Given the description of an element on the screen output the (x, y) to click on. 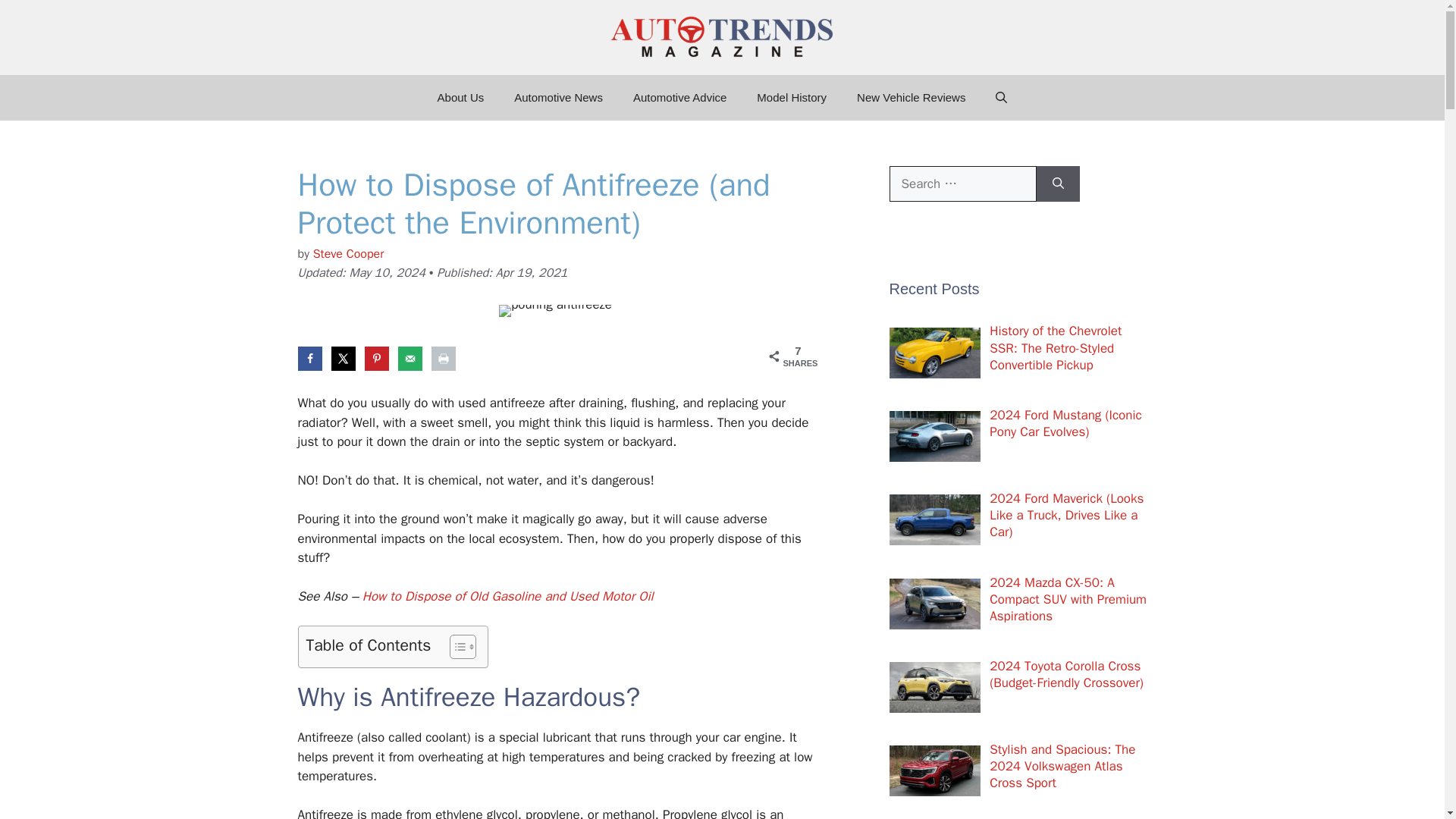
Automotive Advice (679, 97)
New Vehicle Reviews (910, 97)
Share on Facebook (309, 358)
Save to Pinterest (376, 358)
View all posts by Steve Cooper (348, 253)
Send over email (409, 358)
Share on X (343, 358)
Model History (791, 97)
Automotive News (558, 97)
How to Dispose of Old Gasoline and Used Motor Oil (507, 596)
